Given the description of an element on the screen output the (x, y) to click on. 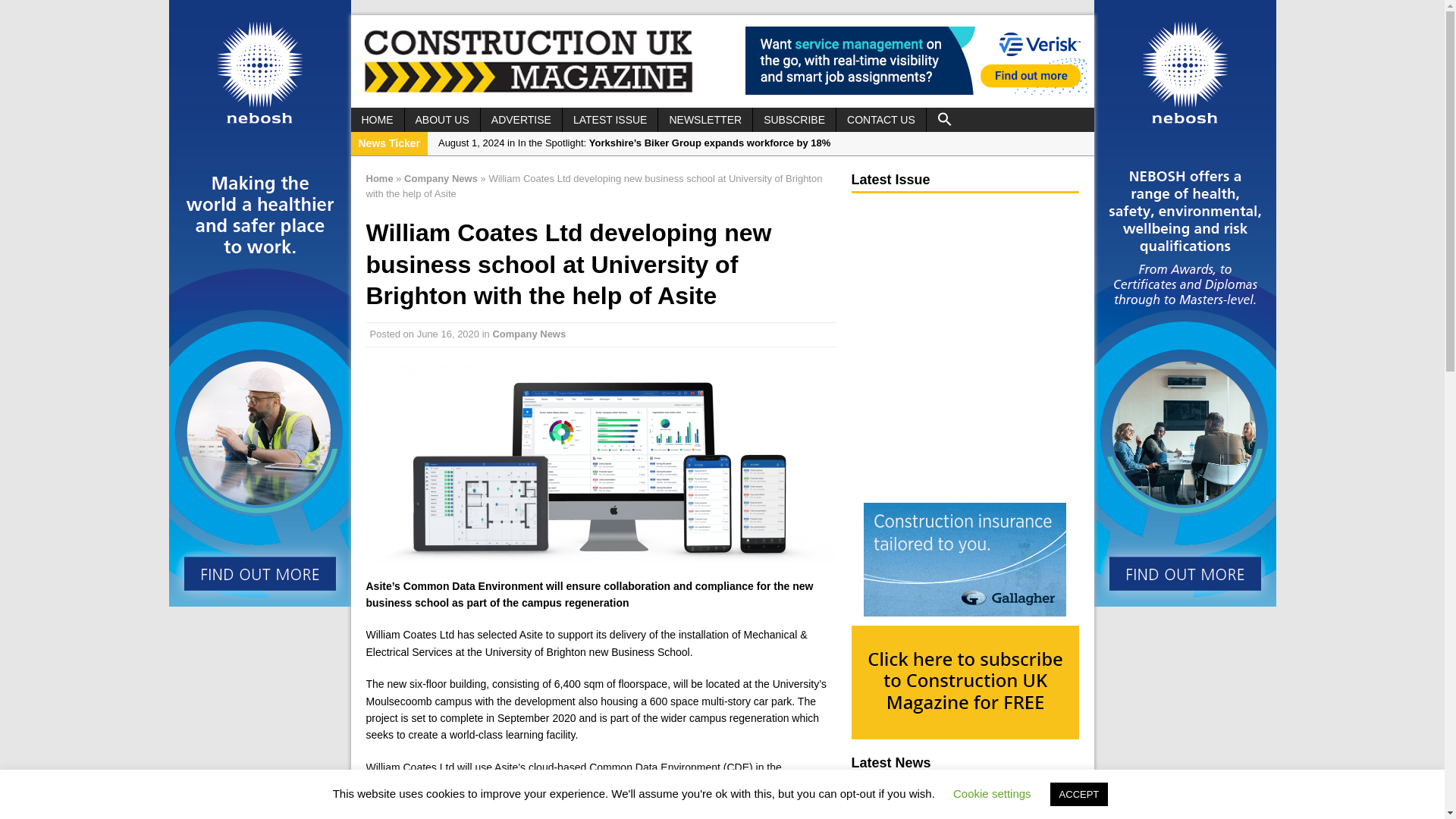
Home (379, 178)
SUBSCRIBE (793, 119)
ADVERTISE (521, 119)
LATEST ISSUE (610, 119)
HOME (376, 119)
NEWSLETTER (705, 119)
CONTACT US (880, 119)
ABOUT US (442, 119)
Company News (440, 178)
Company News (529, 333)
Construction UK Magazine (528, 91)
